Given the description of an element on the screen output the (x, y) to click on. 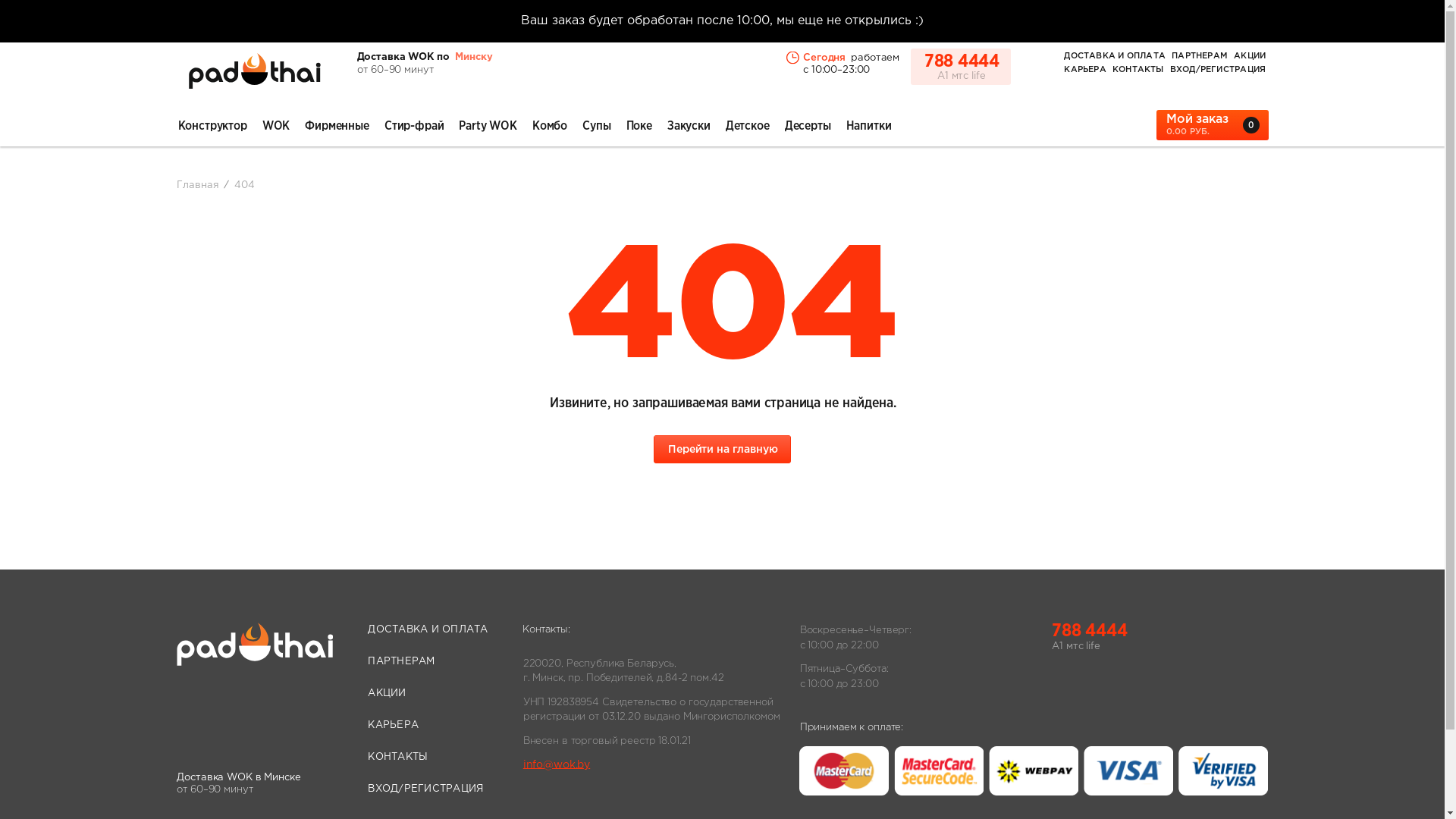
info@wok.by Element type: text (654, 764)
Party WOK Element type: text (487, 124)
WOK Element type: text (275, 124)
